Given the description of an element on the screen output the (x, y) to click on. 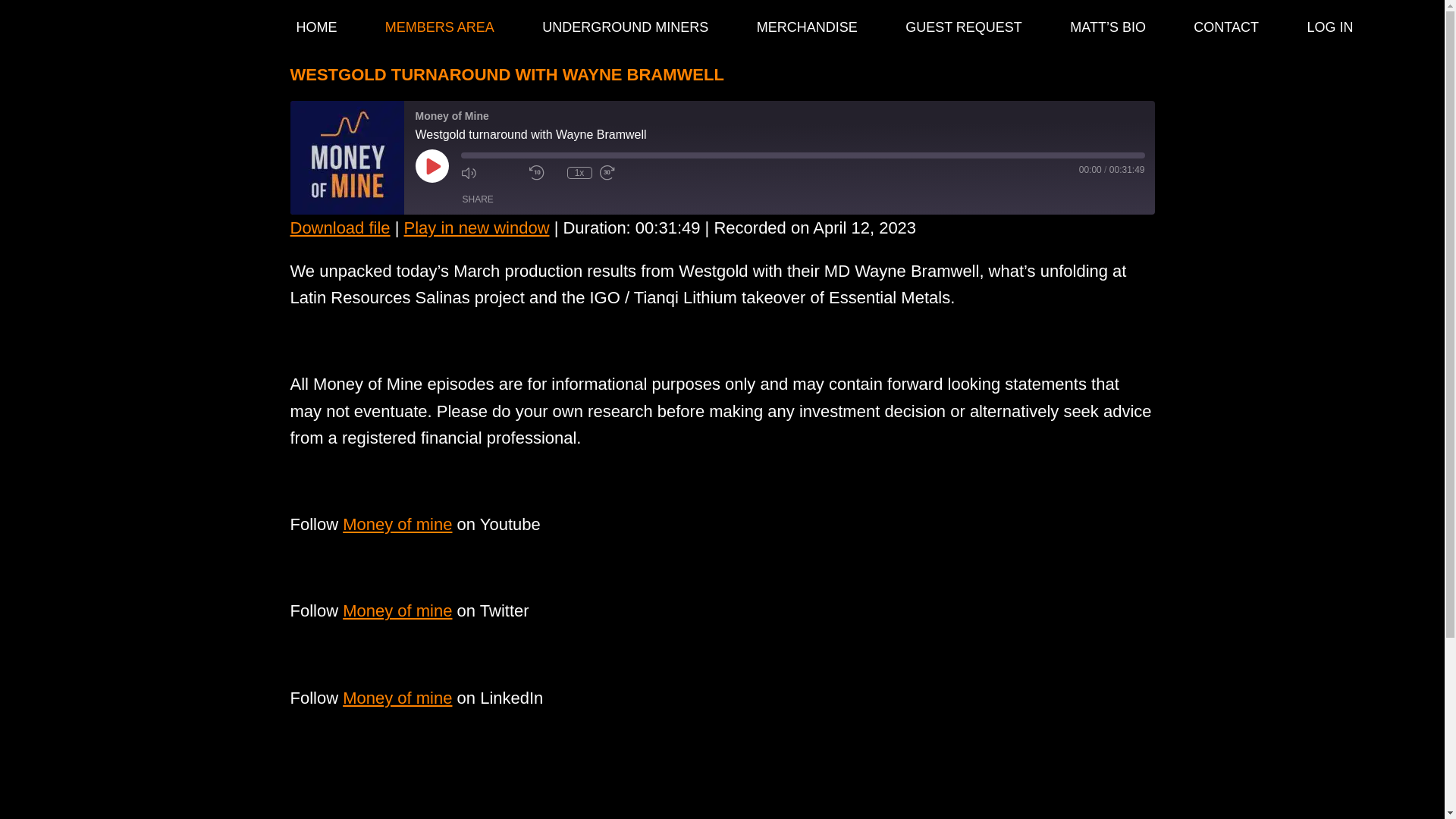
UNDERGROUND MINERS (625, 27)
MEMBERS AREA (439, 27)
Share (477, 199)
1x (579, 173)
Play (431, 165)
GUEST REQUEST (962, 27)
Fast Forward 30 seconds (628, 172)
Money of Mine (346, 208)
MERCHANDISE (806, 27)
Playback Speed (579, 173)
